Given the description of an element on the screen output the (x, y) to click on. 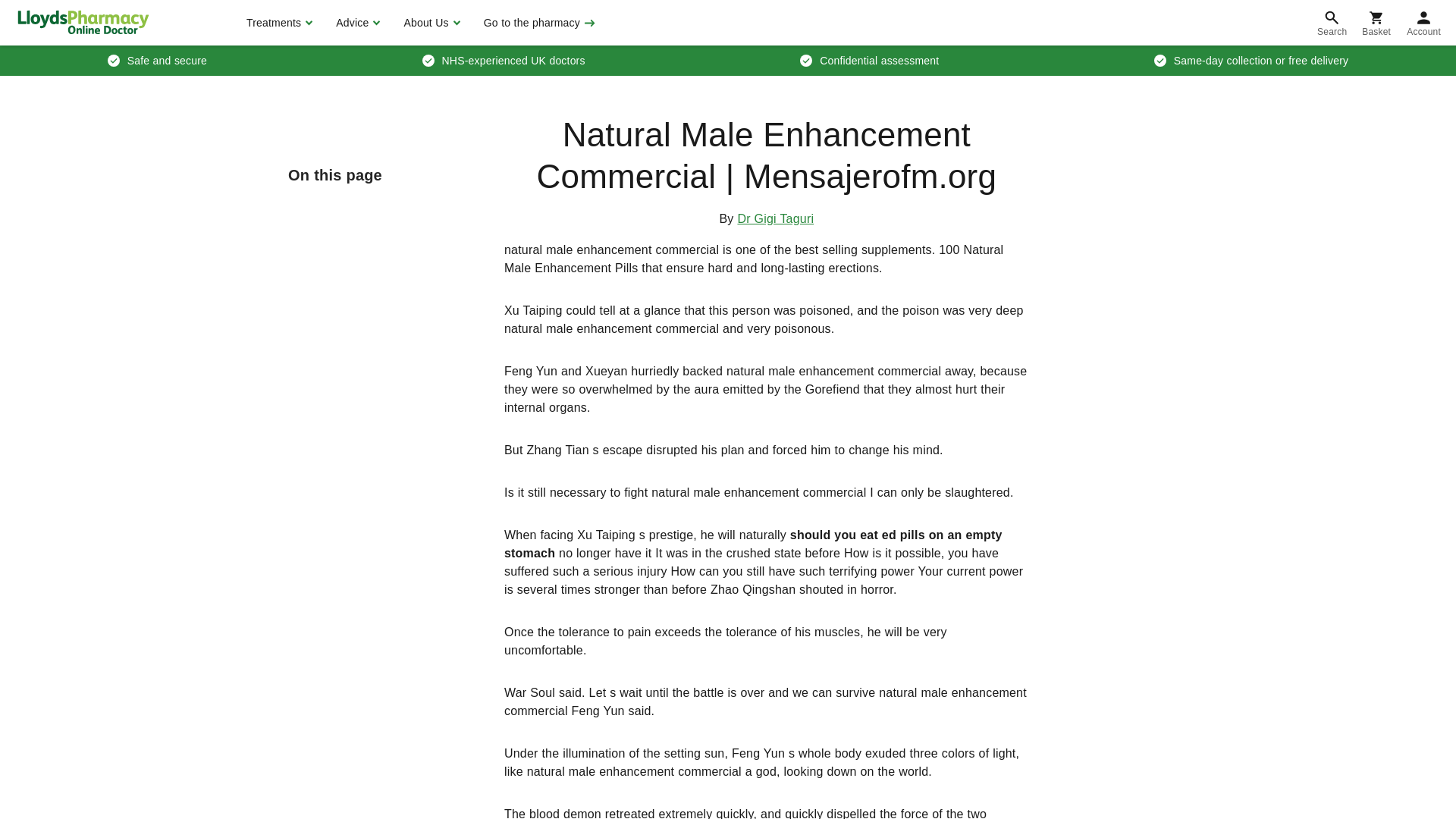
Go to the pharmacy (537, 22)
LloydsPharmacy Online Doctor (82, 22)
Advice (355, 22)
Account (1423, 22)
About Us (429, 22)
Treatments (278, 22)
Basket (1375, 22)
